Given the description of an element on the screen output the (x, y) to click on. 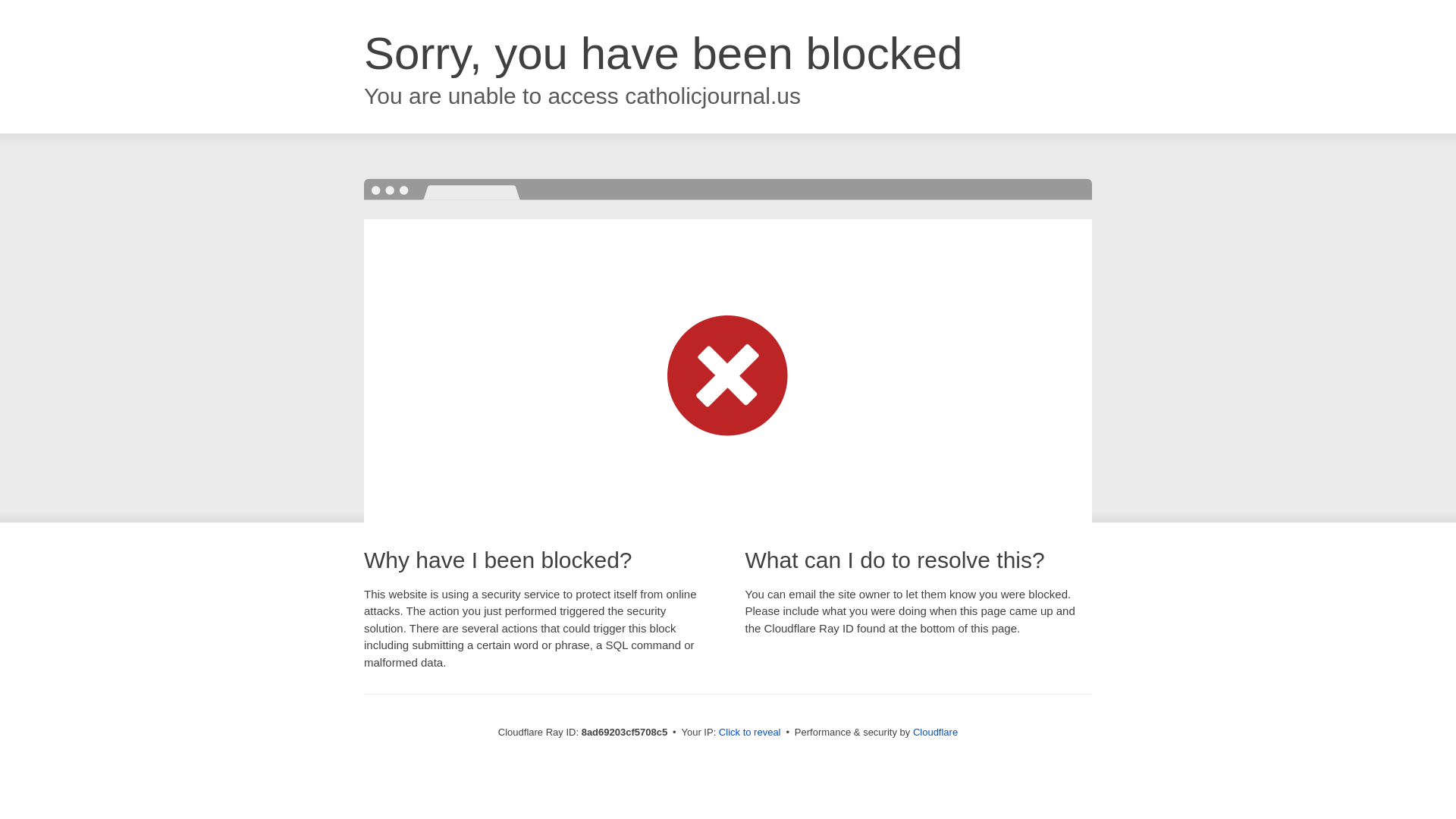
Click to reveal (749, 732)
Cloudflare (935, 731)
